Given the description of an element on the screen output the (x, y) to click on. 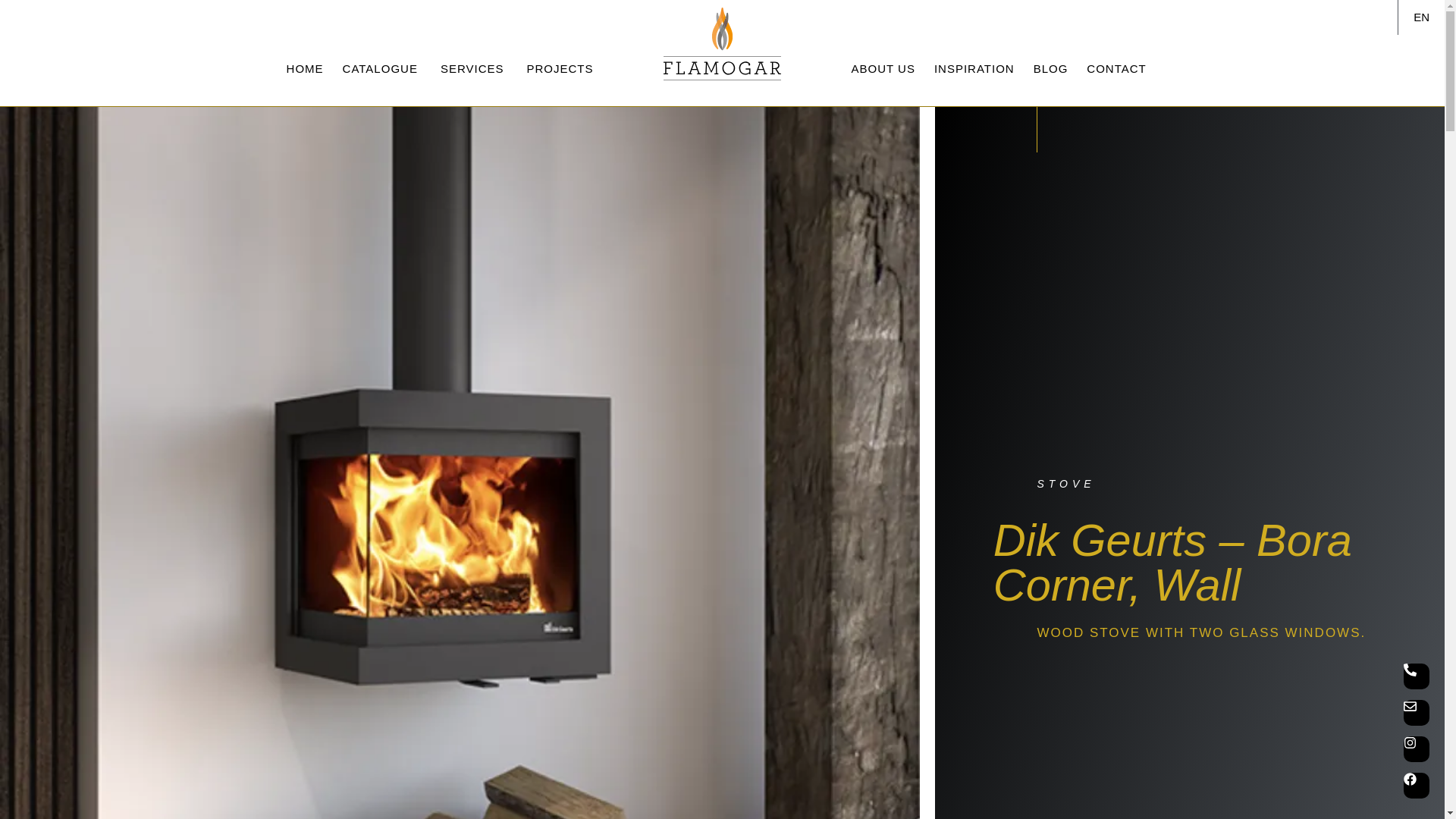
CONTACT (1115, 68)
EN (1420, 17)
BLOG (1050, 68)
HOME (304, 68)
EN (1420, 17)
logo-flamogar-negativo-color7 (721, 43)
INSPIRATION (974, 68)
ABOUT US (882, 68)
PROJECTS (558, 68)
